Given the description of an element on the screen output the (x, y) to click on. 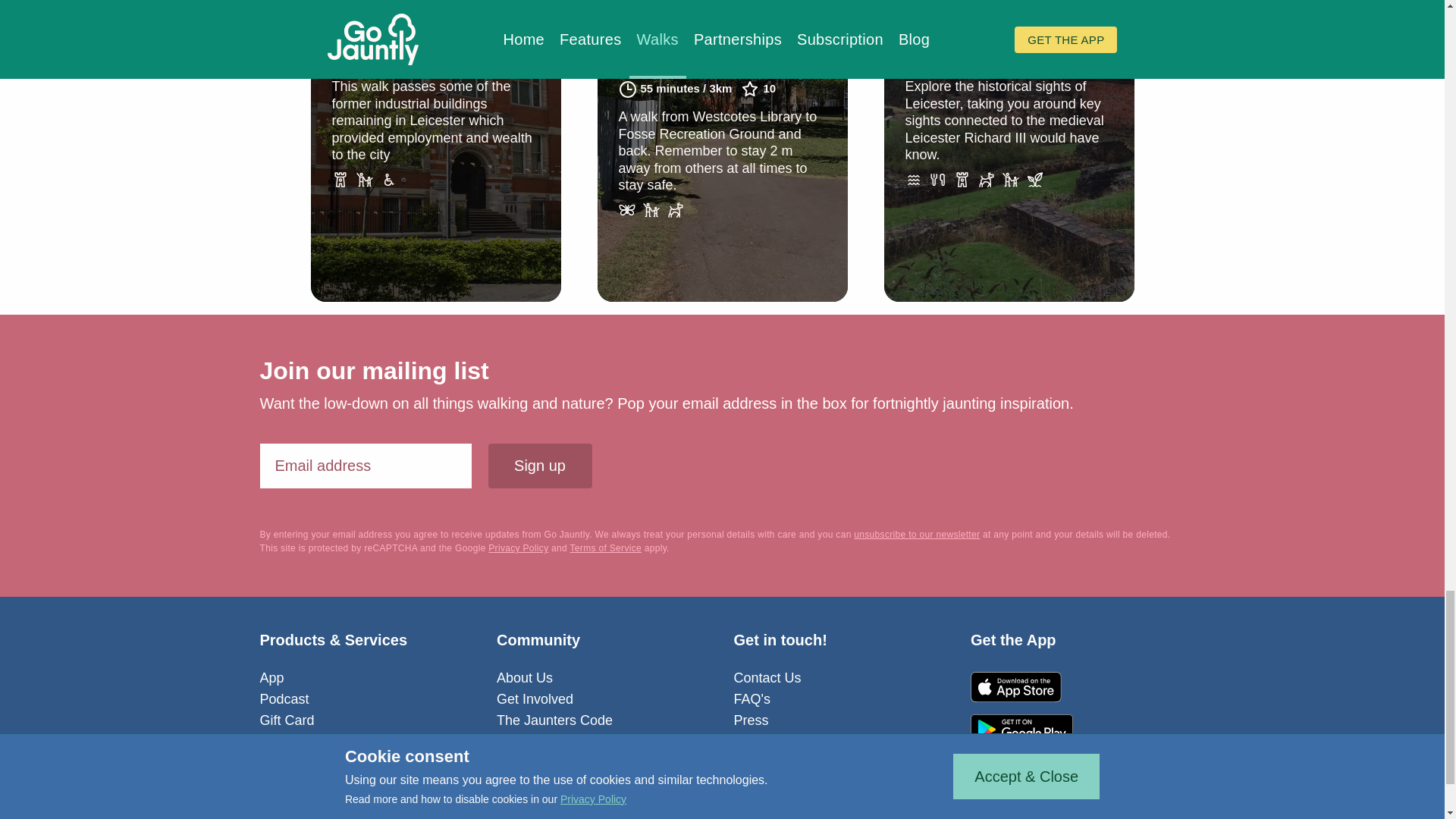
Email us (739, 808)
Follow us on Twitter (706, 808)
Download on the App Store (1022, 686)
Follow us on Instagram (773, 808)
Get it on Google Play (1022, 729)
Follow us on Facebook (672, 808)
